Given the description of an element on the screen output the (x, y) to click on. 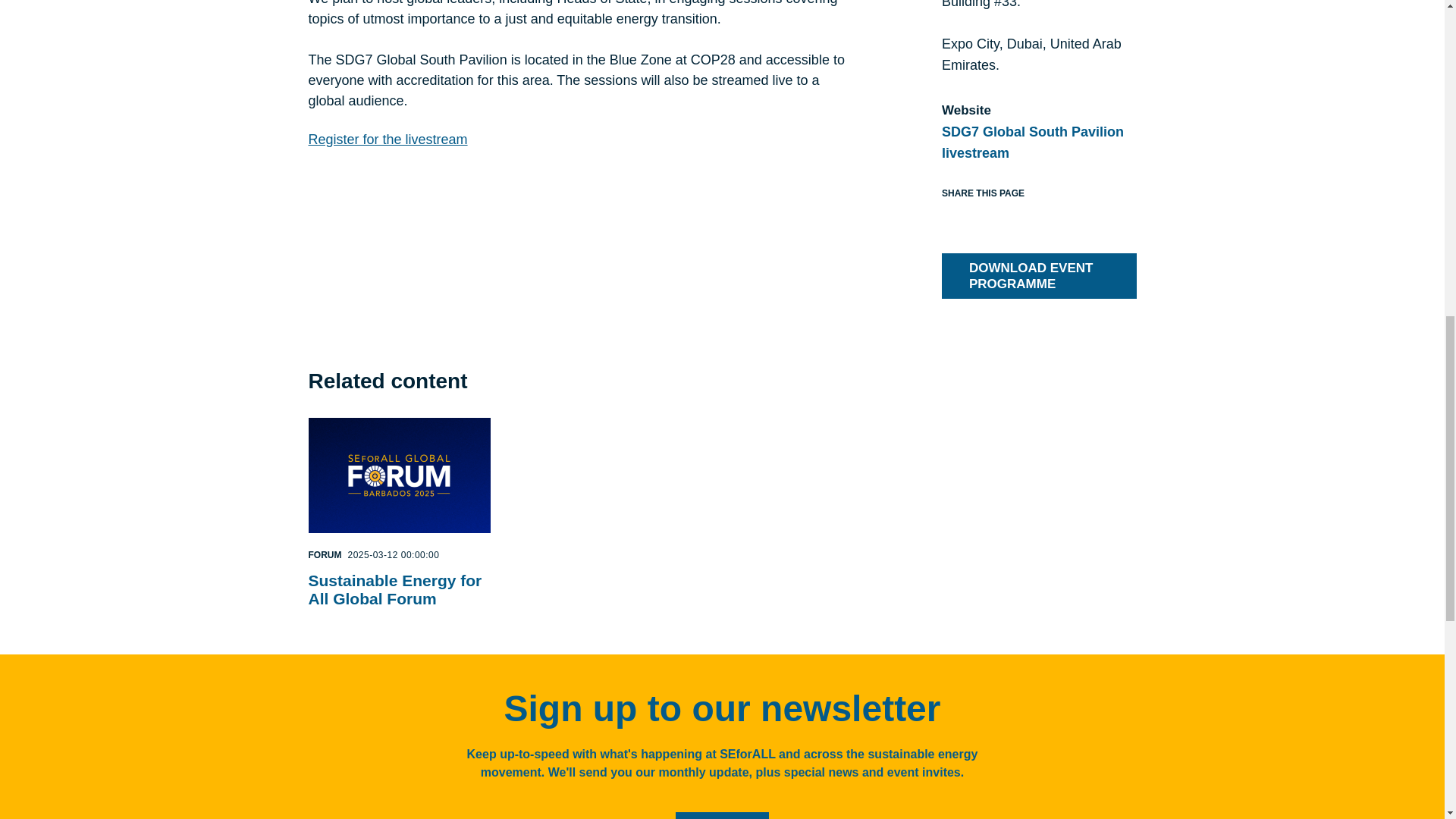
LinkedIn share (988, 218)
Twitter share (969, 218)
Sign up (721, 815)
Download event programme (1039, 275)
Email share (1007, 218)
Facebook share (951, 218)
